Given the description of an element on the screen output the (x, y) to click on. 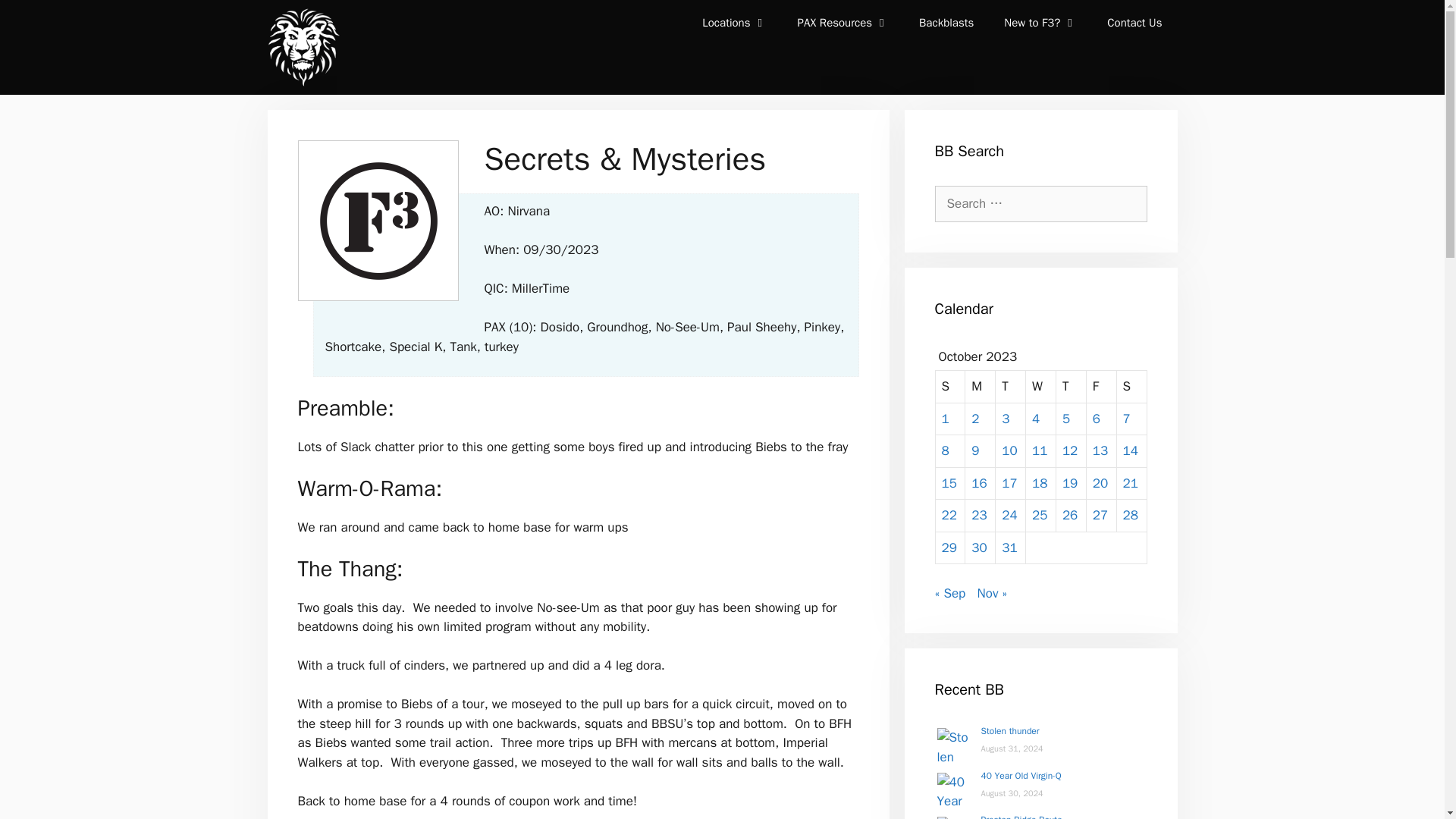
Search for: (1040, 203)
Contact Us (1134, 22)
Monday (980, 387)
F3Alpha (302, 47)
PAX Resources (843, 22)
Search (33, 15)
Saturday (1131, 387)
Backblasts (946, 22)
Friday (1101, 387)
Thursday (1071, 387)
